Given the description of an element on the screen output the (x, y) to click on. 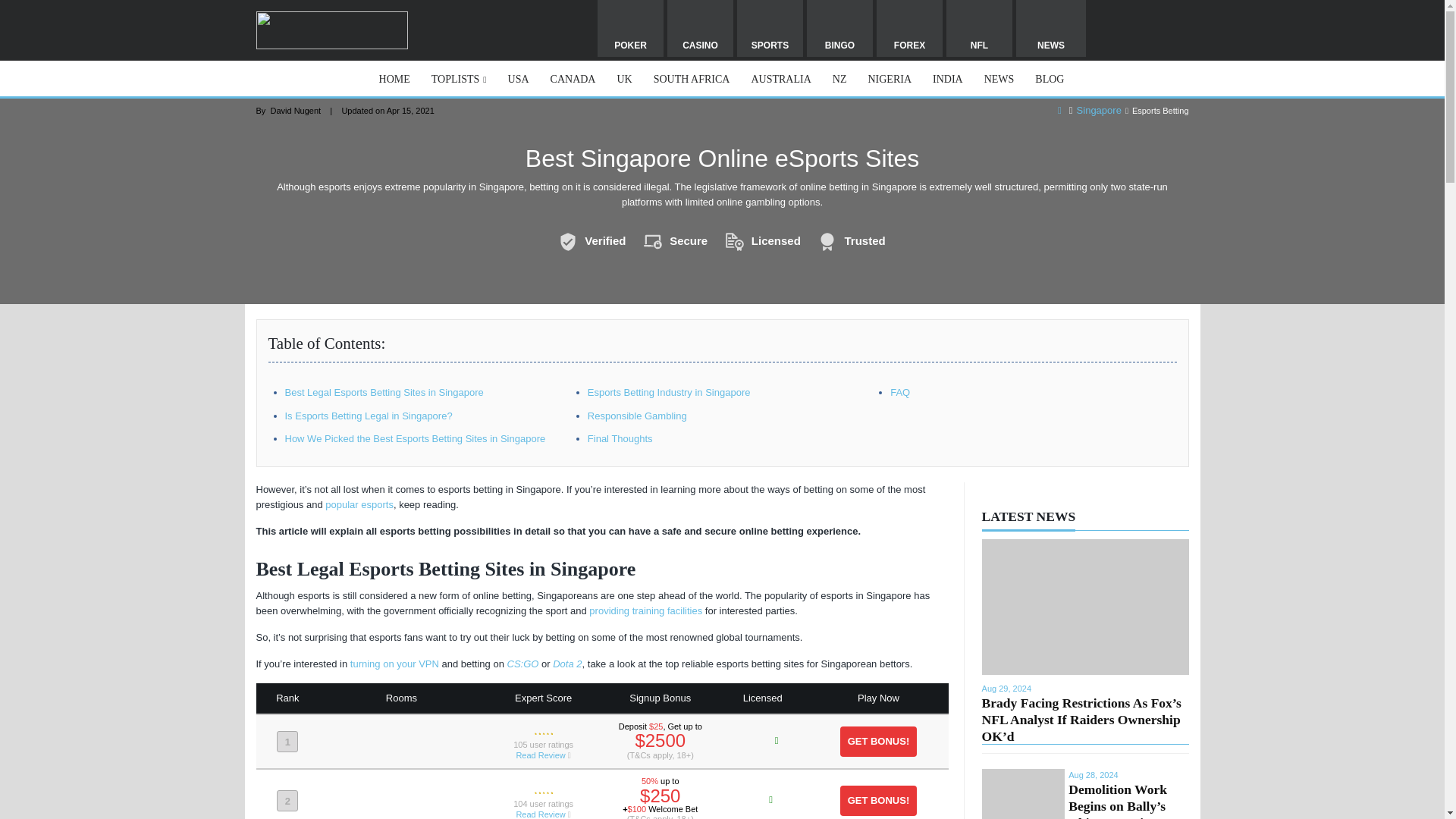
NEWS (1051, 28)
BINGO (839, 28)
HOME (394, 79)
CASINO (699, 28)
POKER (629, 28)
NFL (978, 28)
FOREX (909, 28)
Home (1059, 110)
Singapore (1099, 110)
TOPLISTS (459, 79)
